Given the description of an element on the screen output the (x, y) to click on. 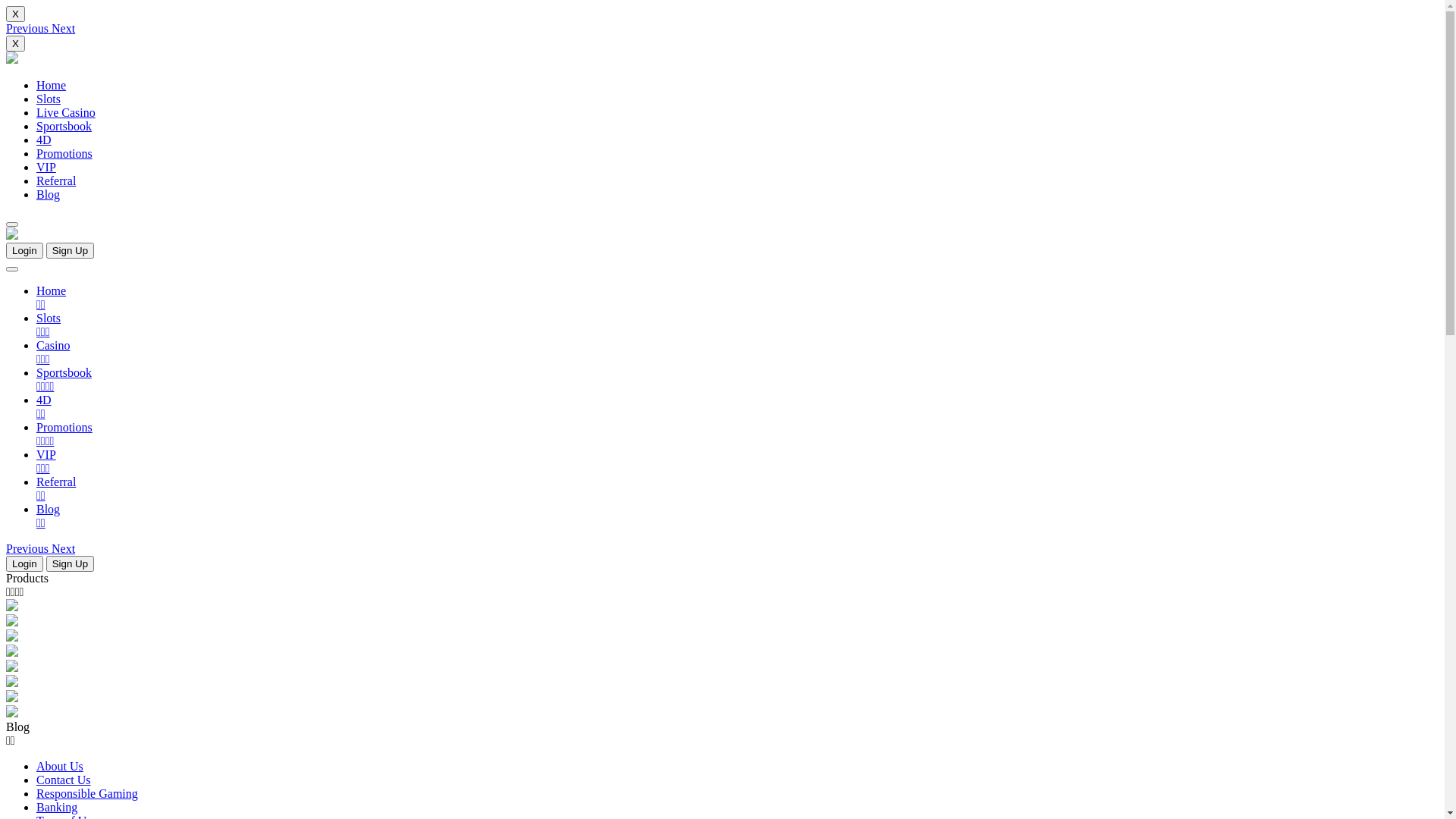
Sign Up Element type: text (70, 563)
Login Element type: text (24, 250)
X Element type: text (15, 13)
Login Element type: text (24, 563)
Referral Element type: text (55, 180)
Next Element type: text (63, 548)
About Us Element type: text (59, 765)
Banking Element type: text (56, 806)
Previous Element type: text (28, 27)
X Element type: text (15, 43)
Slots Element type: text (48, 98)
VIP Element type: text (46, 166)
Sportsbook Element type: text (63, 125)
Blog Element type: text (47, 194)
4D Element type: text (43, 139)
Responsible Gaming Element type: text (87, 793)
Sign Up Element type: text (70, 250)
Previous Element type: text (28, 548)
Promotions Element type: text (64, 153)
Live Casino Element type: text (65, 112)
Home Element type: text (50, 84)
Contact Us Element type: text (63, 779)
Next Element type: text (63, 27)
